Given the description of an element on the screen output the (x, y) to click on. 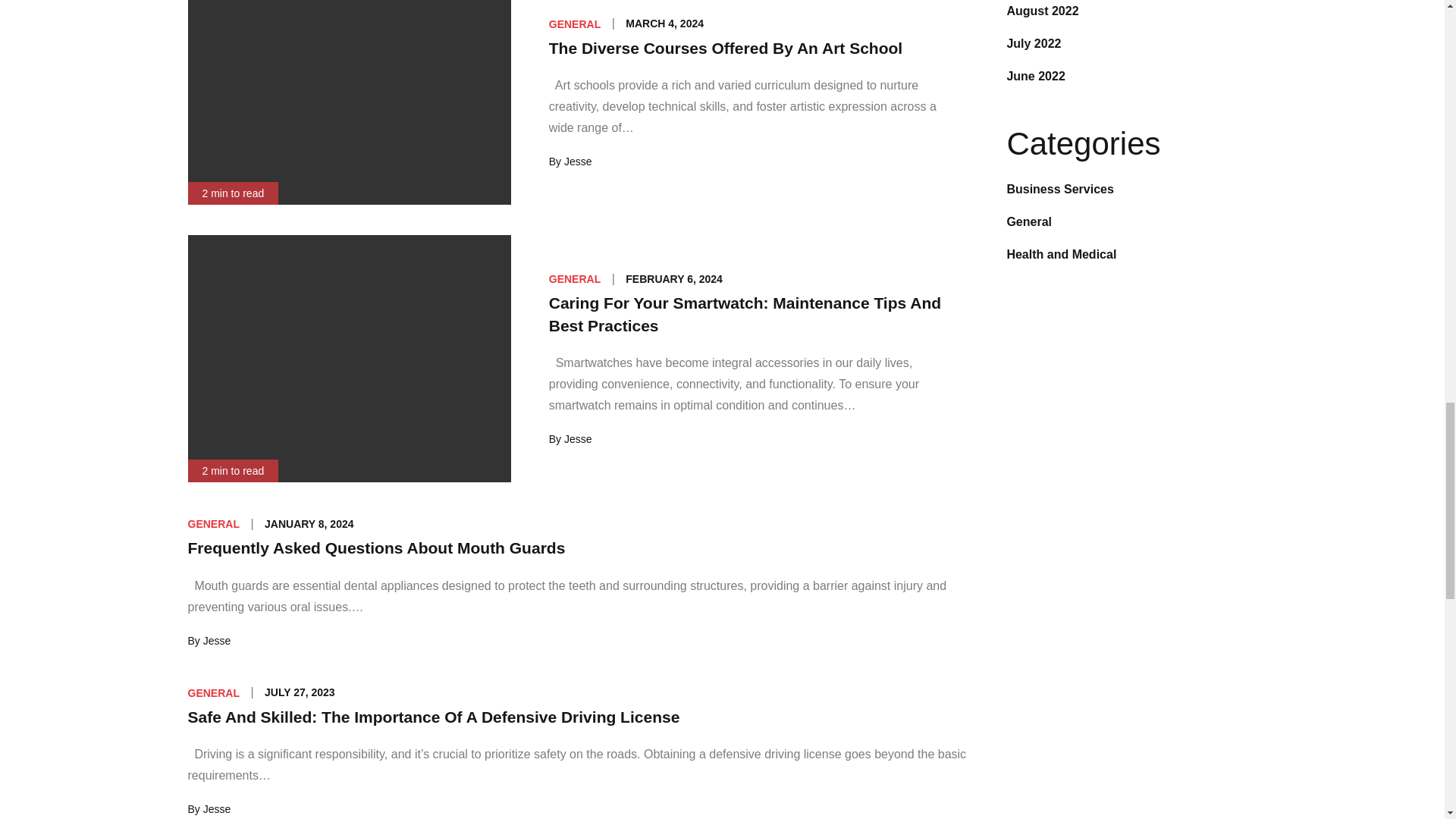
GENERAL (573, 278)
The Diverse Courses Offered By An Art School (725, 47)
Jesse (578, 439)
Jesse (578, 161)
FEBRUARY 6, 2024 (674, 278)
GENERAL (573, 24)
MARCH 4, 2024 (664, 23)
